Given the description of an element on the screen output the (x, y) to click on. 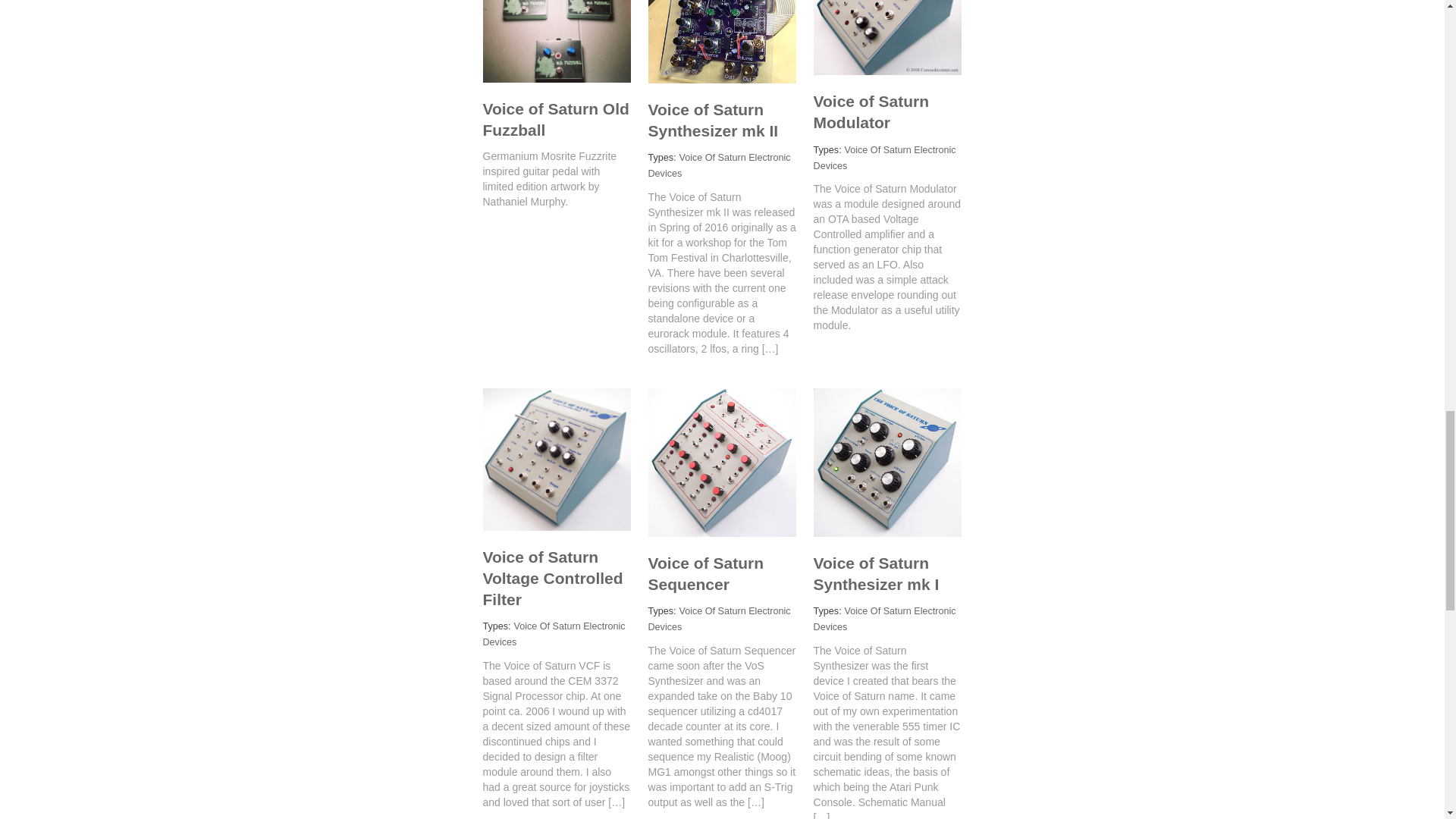
Voice of Saturn Synthesizer mk II (712, 119)
Voice Of Saturn Electronic Devices (718, 165)
Voice Of Saturn Electronic Devices (718, 619)
Voice of Saturn Voltage Controlled Filter (552, 577)
Voice Of Saturn Electronic Devices (552, 633)
Voice of Saturn Sequencer (704, 573)
Voice of Saturn Old Fuzzball (554, 118)
Voice of Saturn Synthesizer mk II (712, 119)
Voice of Saturn Modulator (870, 111)
Voice Of Saturn Electronic Devices (884, 157)
